Given the description of an element on the screen output the (x, y) to click on. 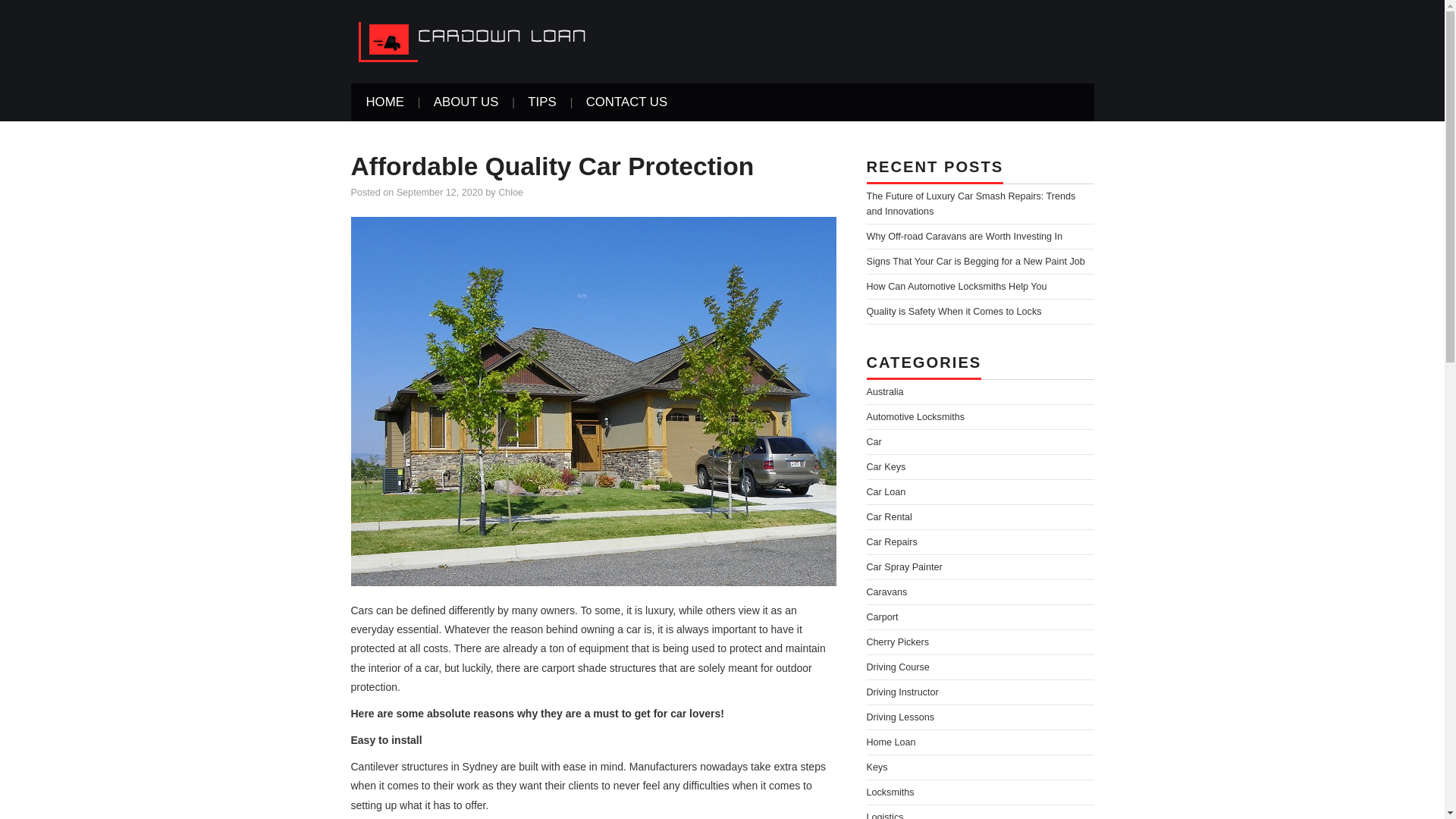
Signs That Your Car is Begging for a New Paint Job (975, 261)
Chloe (509, 192)
ABOUT US (466, 102)
September 12, 2020 (439, 192)
How Can Automotive Locksmiths Help You (956, 286)
TIPS (541, 102)
CONTACT US (626, 102)
Why Off-road Caravans are Worth Investing In (964, 235)
3:04 am (439, 192)
Car Loans blog in Australia (482, 40)
